Given the description of an element on the screen output the (x, y) to click on. 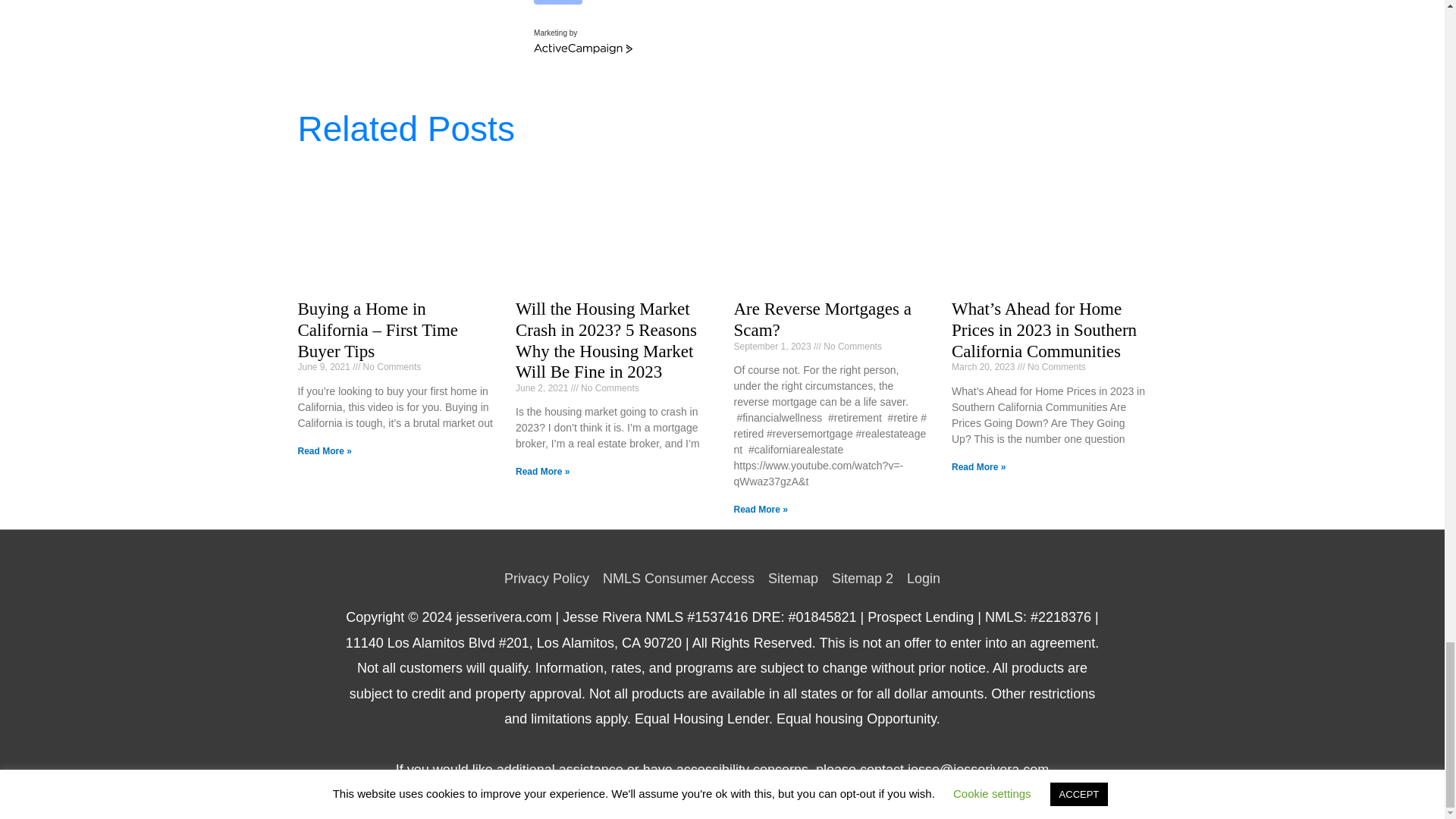
Submit (558, 2)
Login (919, 578)
Sitemap 2 (862, 578)
ActiveCampaign (582, 49)
Are Reverse Mortgages a Scam? (822, 319)
Sitemap (793, 578)
Privacy Policy (549, 578)
NMLS Consumer Access (678, 578)
